Given the description of an element on the screen output the (x, y) to click on. 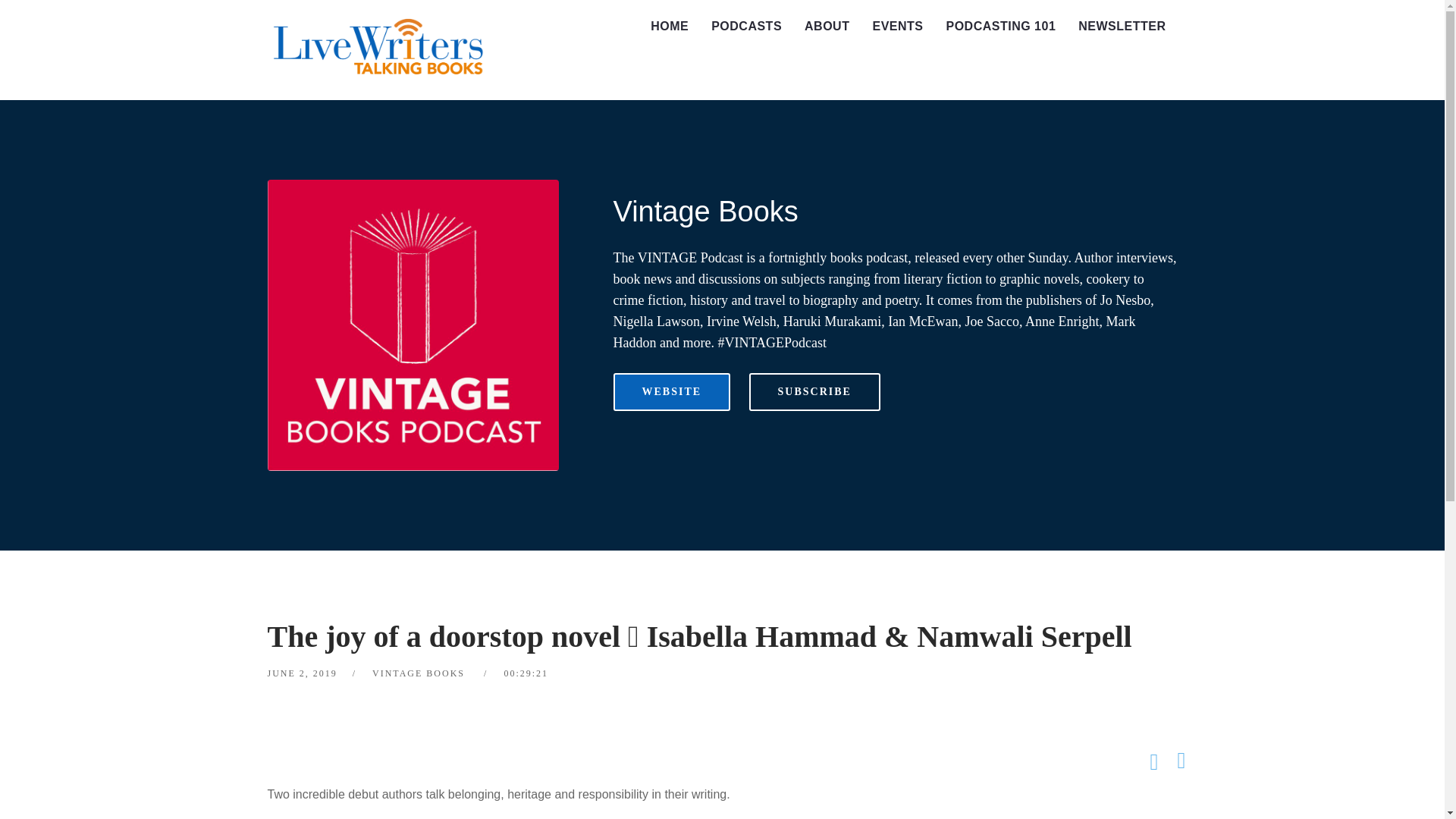
SUBSCRIBE (814, 392)
PODCASTING 101 (1000, 26)
ABOUT (826, 26)
Vintage Books (704, 211)
HOME (669, 26)
PODCASTS (746, 26)
NEWSLETTER (1121, 26)
WEBSITE (671, 392)
EVENTS (897, 26)
LiveWriters (380, 49)
